Given the description of an element on the screen output the (x, y) to click on. 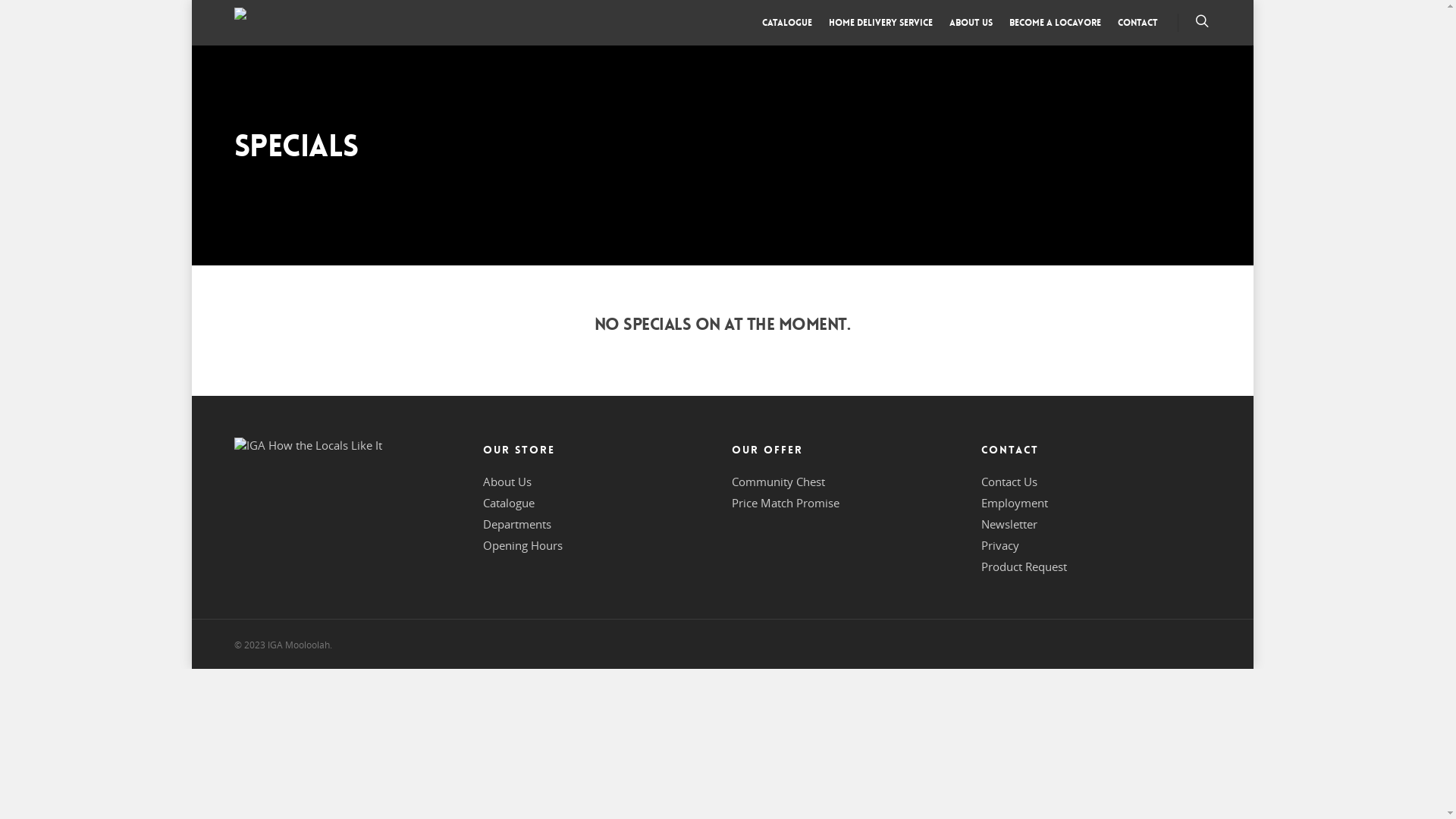
Contact Element type: text (1137, 26)
Catalogue Element type: text (786, 26)
Employment Element type: text (1014, 502)
Newsletter Element type: text (1009, 523)
Home Delivery Service Element type: text (879, 26)
About Us Element type: text (507, 481)
Contact Us Element type: text (1009, 481)
Opening Hours Element type: text (522, 544)
Product Request Element type: text (1023, 566)
Departments Element type: text (517, 523)
Catalogue Element type: text (508, 502)
Privacy Element type: text (1000, 544)
Become a Locavore Element type: text (1054, 26)
Community Chest Element type: text (778, 481)
About Us Element type: text (970, 26)
Price Match Promise Element type: text (785, 502)
